Given the description of an element on the screen output the (x, y) to click on. 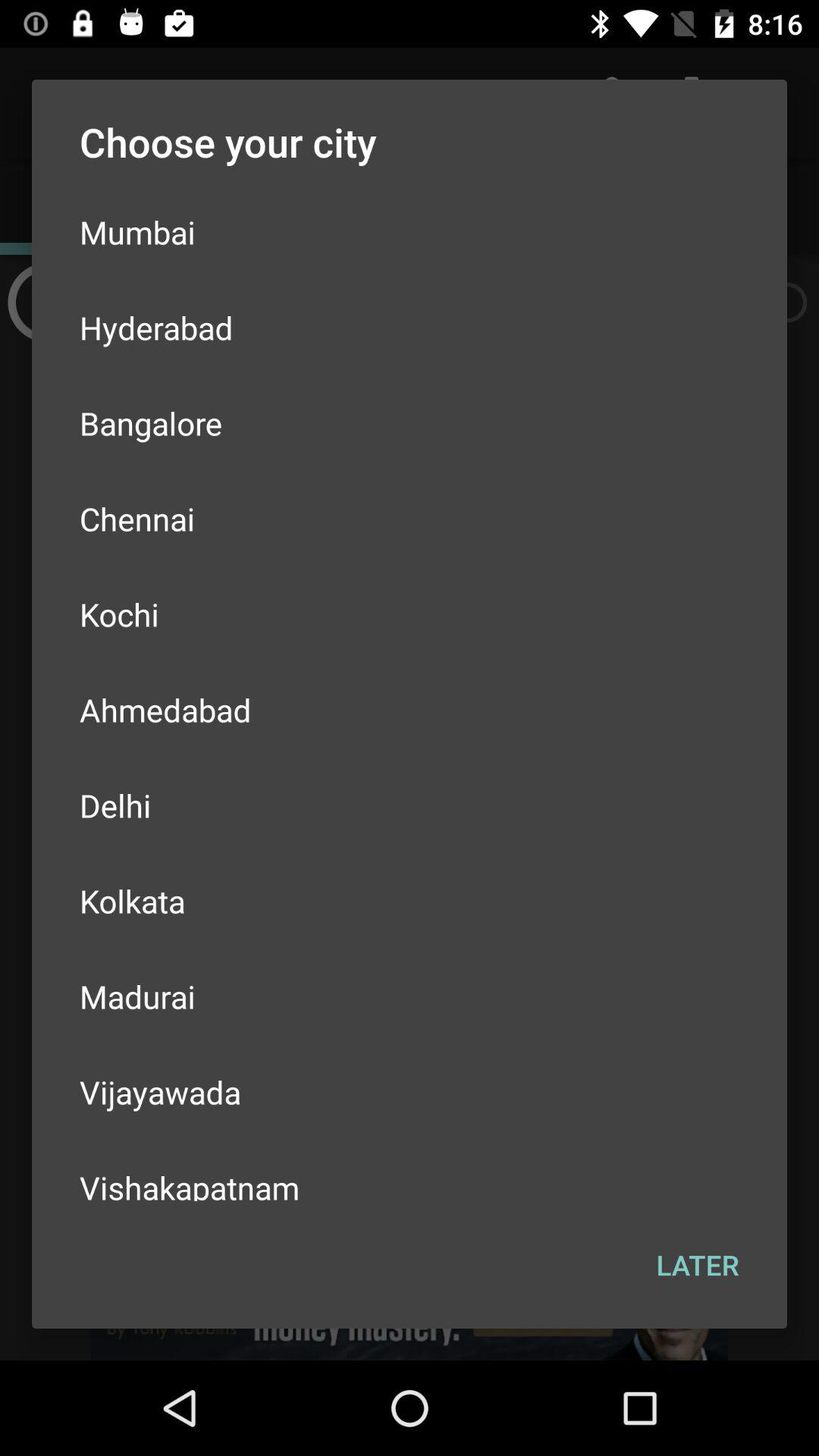
turn on the icon above kochi (409, 518)
